Given the description of an element on the screen output the (x, y) to click on. 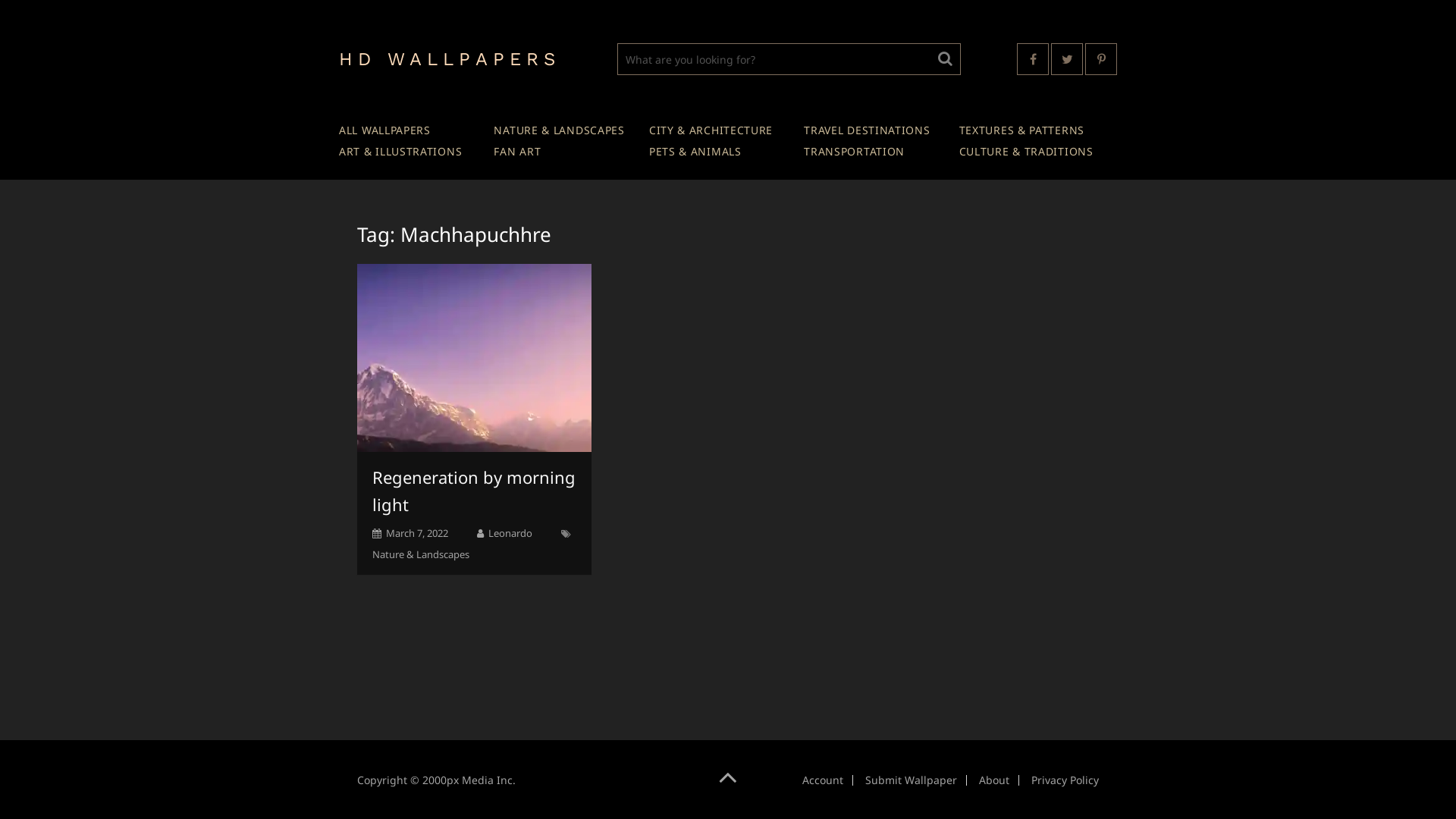
NATURE & LANDSCAPES Element type: text (558, 130)
Privacy Policy Element type: text (1064, 779)
Regeneration by morning light Element type: hover (474, 357)
HD WALLPAPERS Element type: text (449, 59)
2000px Media Inc. Element type: text (468, 779)
About Element type: text (994, 779)
FAN ART Element type: text (516, 151)
CULTURE & TRADITIONS Element type: text (1026, 151)
ALL WALLPAPERS Element type: text (384, 130)
Account Element type: text (822, 779)
TEXTURES & PATTERNS Element type: text (1021, 130)
PETS & ANIMALS Element type: text (695, 151)
ART & ILLUSTRATIONS Element type: text (399, 151)
CITY & ARCHITECTURE Element type: text (710, 130)
TRAVEL DESTINATIONS Element type: text (866, 130)
Nature & Landscapes Element type: text (420, 553)
Submit Wallpaper Element type: text (911, 779)
Leonardo Element type: text (510, 532)
TRANSPORTATION Element type: text (853, 151)
Regeneration by morning light Element type: text (473, 490)
